Given the description of an element on the screen output the (x, y) to click on. 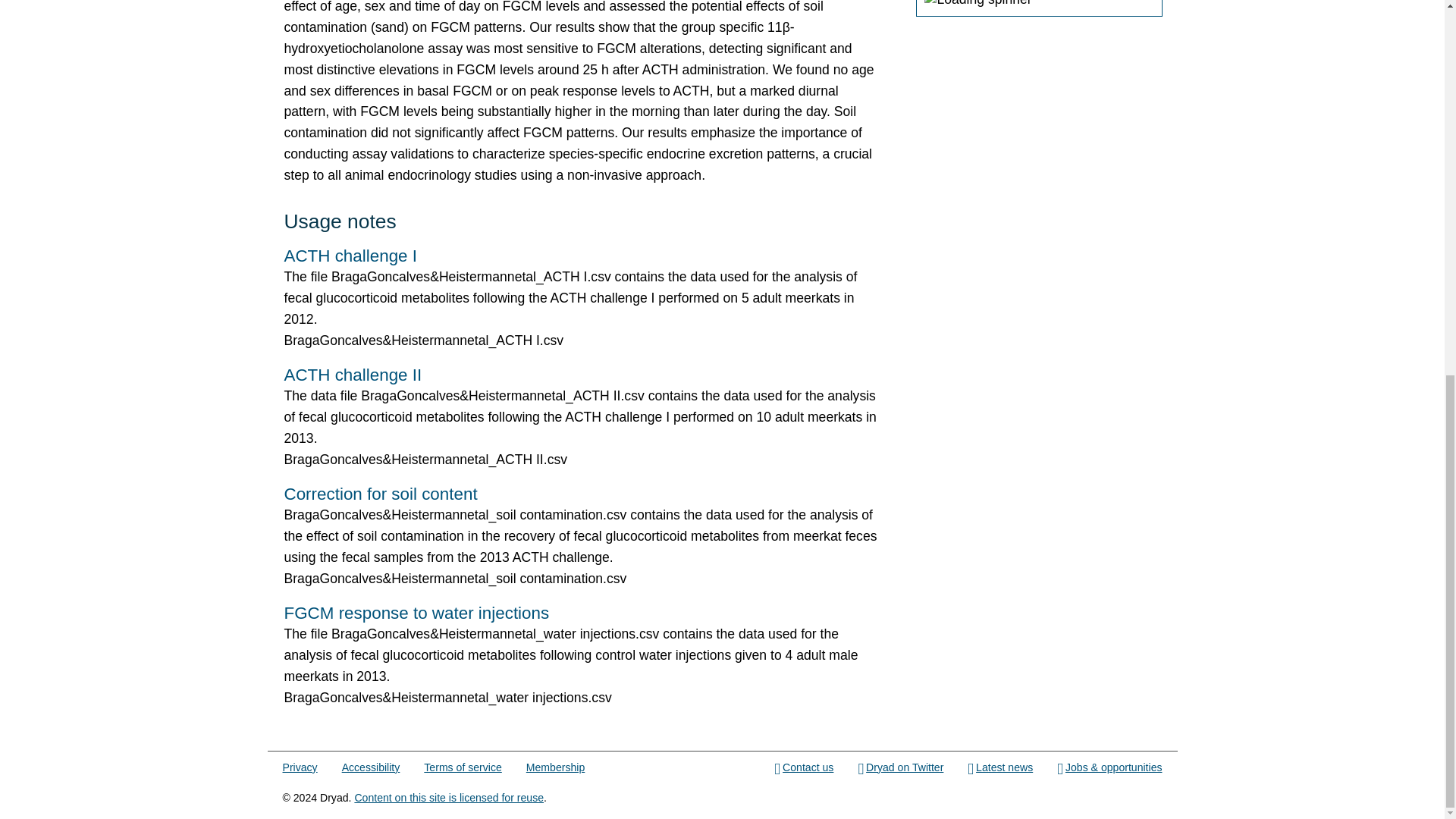
Terms of service (461, 768)
Privacy (299, 768)
Accessibility (371, 768)
